Given the description of an element on the screen output the (x, y) to click on. 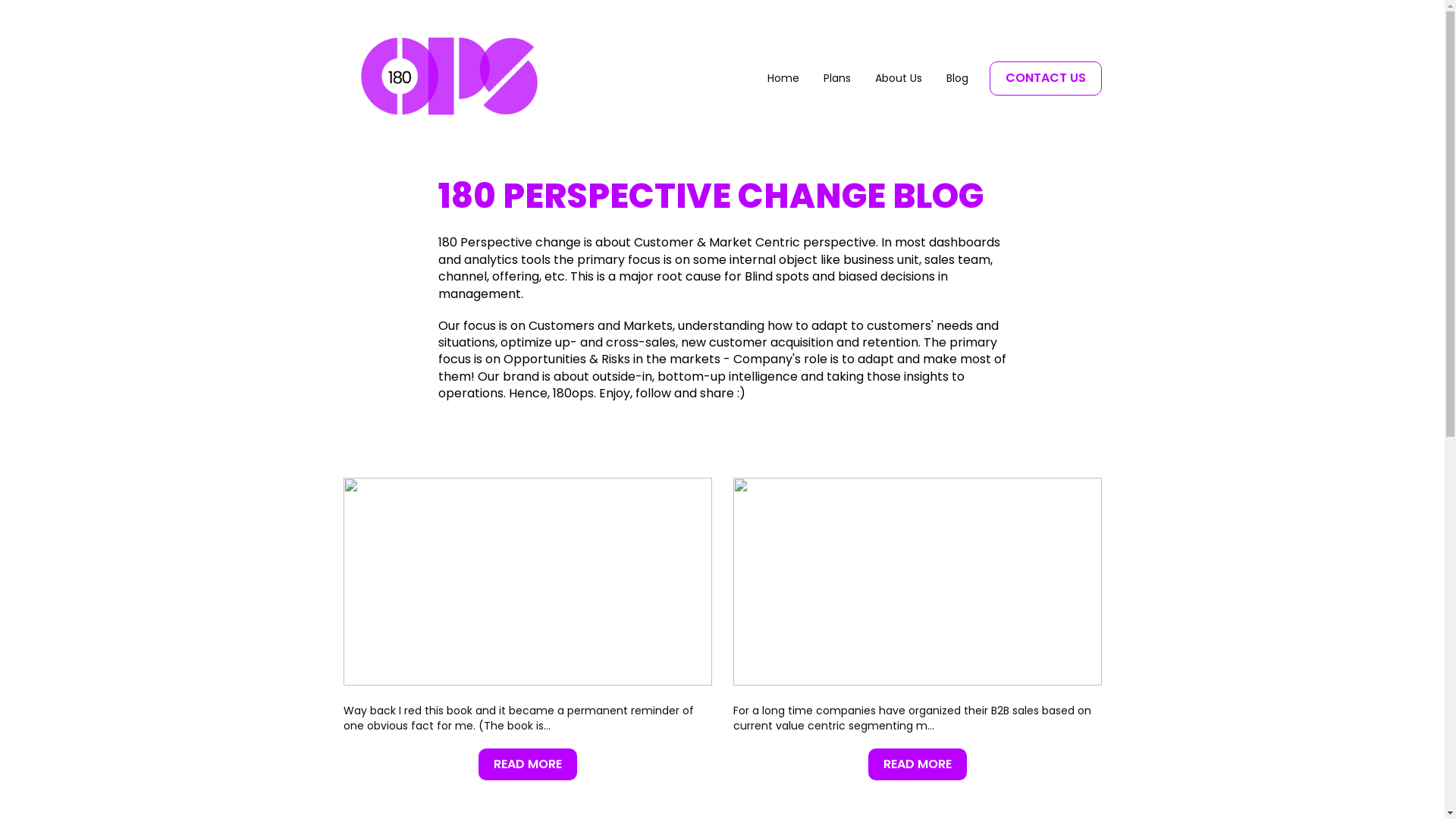
Home Element type: text (783, 78)
Blog Element type: text (957, 78)
CONTACT US Element type: text (1044, 77)
READ MORE Element type: text (526, 764)
Plans Element type: text (836, 78)
READ MORE Element type: text (916, 764)
About Us Element type: text (898, 78)
